Given the description of an element on the screen output the (x, y) to click on. 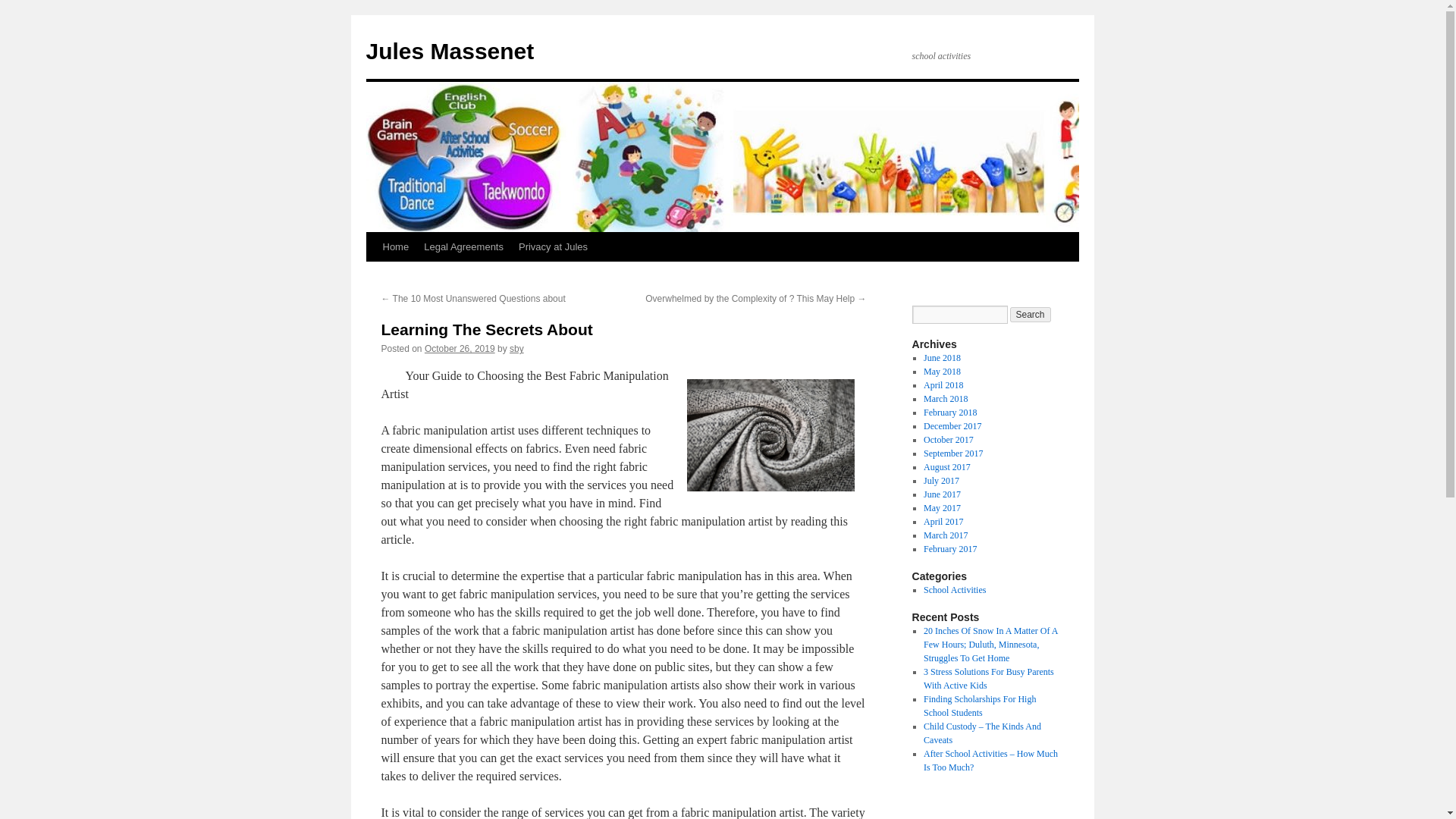
Jules Massenet (449, 50)
View all posts by sby (516, 348)
October 2017 (948, 439)
May 2017 (941, 507)
Home (395, 246)
December 2017 (952, 425)
March 2017 (945, 534)
February 2017 (949, 548)
September 2017 (952, 452)
3 Stress Solutions For Busy Parents With Active Kids (988, 678)
May 2018 (941, 371)
April 2017 (942, 521)
Jules Massenet (449, 50)
October 26, 2019 (460, 348)
3:12 pm (460, 348)
